Given the description of an element on the screen output the (x, y) to click on. 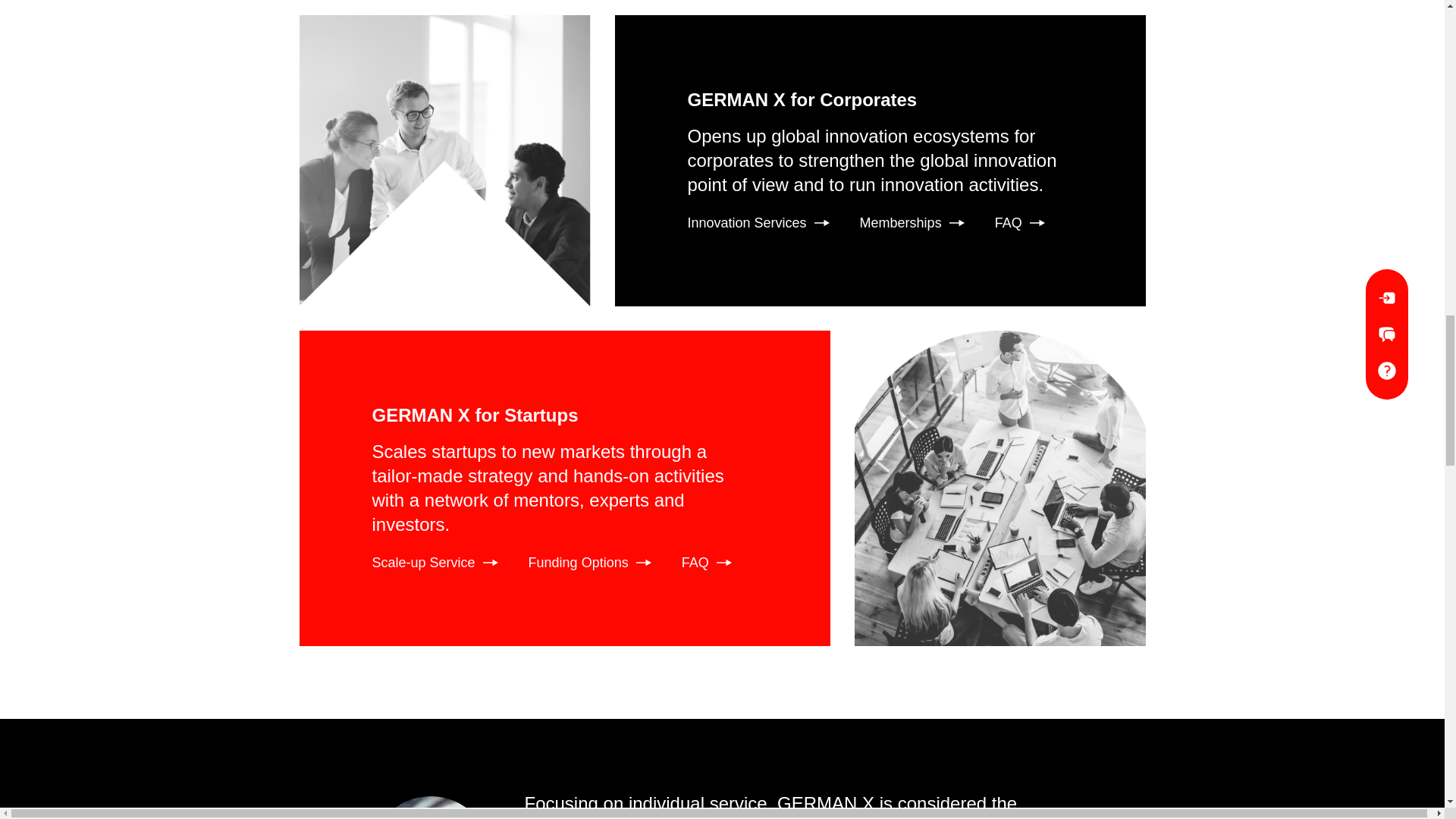
Scale-up Service (434, 562)
FAQ (1019, 222)
FAQ (706, 562)
Memberships (911, 222)
Innovation Services (757, 222)
Funding Options (589, 562)
